Given the description of an element on the screen output the (x, y) to click on. 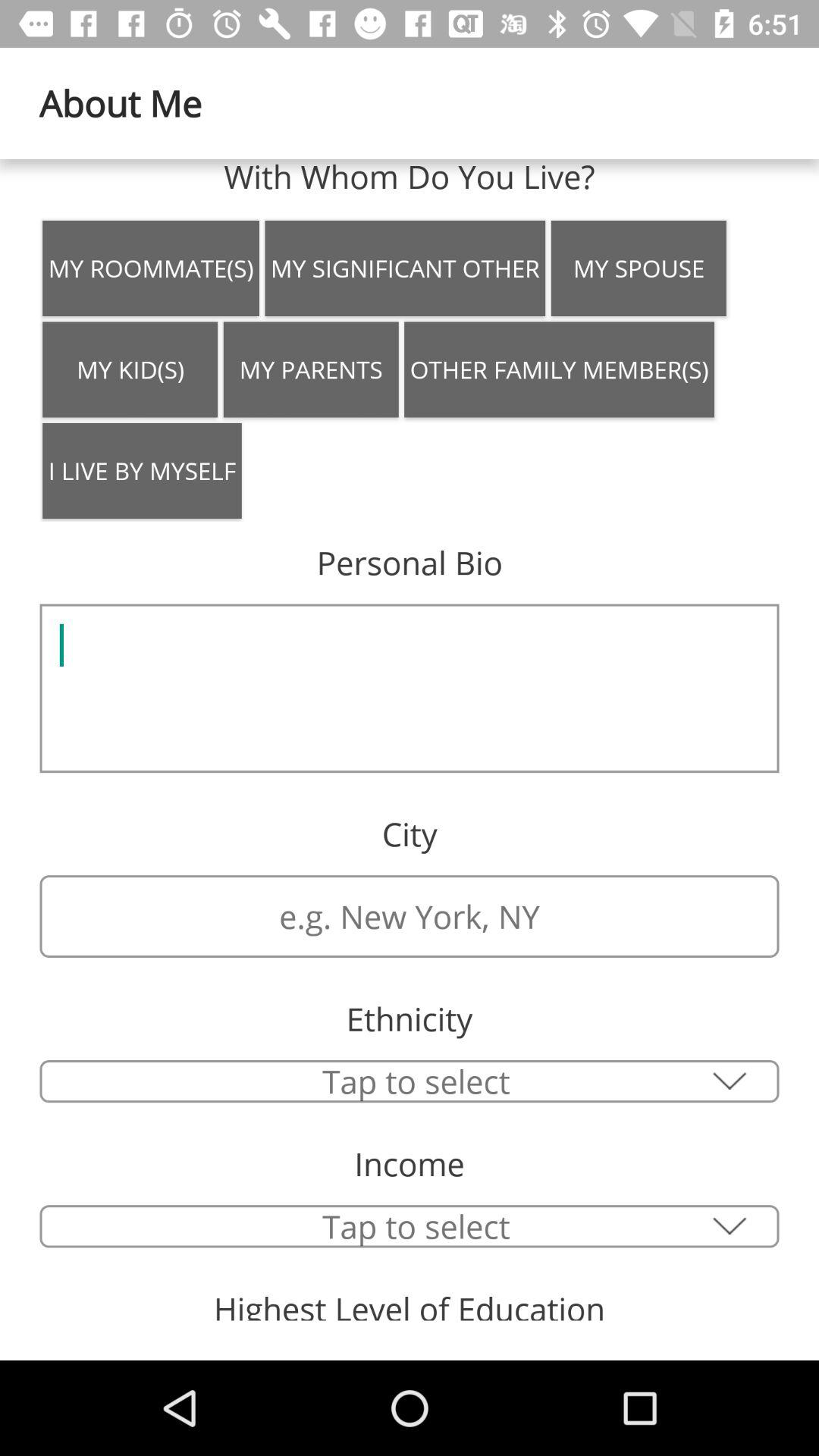
write bio (409, 688)
